Given the description of an element on the screen output the (x, y) to click on. 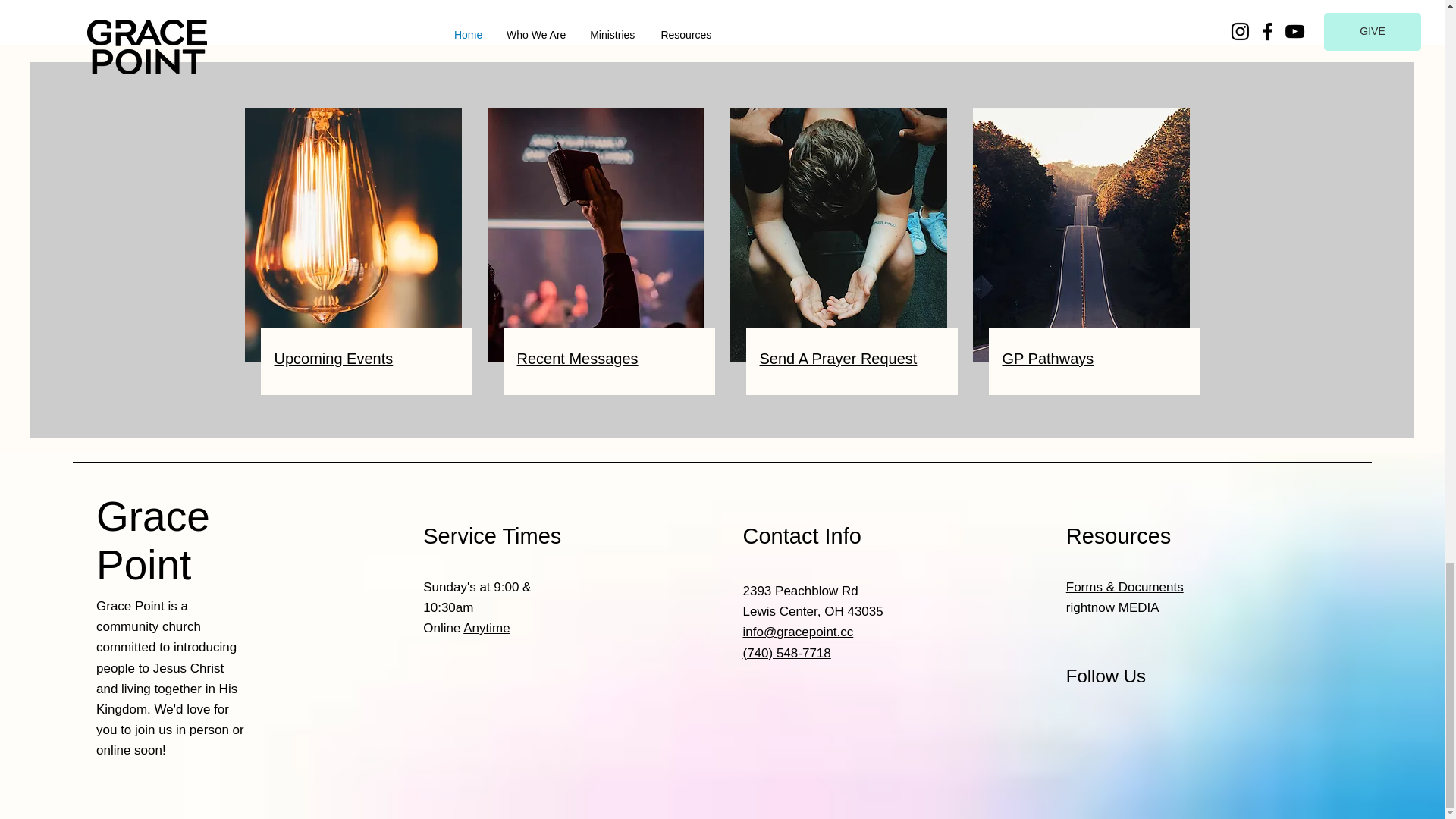
Contact Info (801, 535)
Resources (1118, 535)
GP Pathways (1048, 358)
Service Times (491, 535)
rightnow MEDIA (1111, 607)
Anytime (486, 627)
Grace Point (152, 540)
Recent Messages (577, 358)
Send A Prayer Request (838, 358)
Upcoming Events (334, 358)
